Given the description of an element on the screen output the (x, y) to click on. 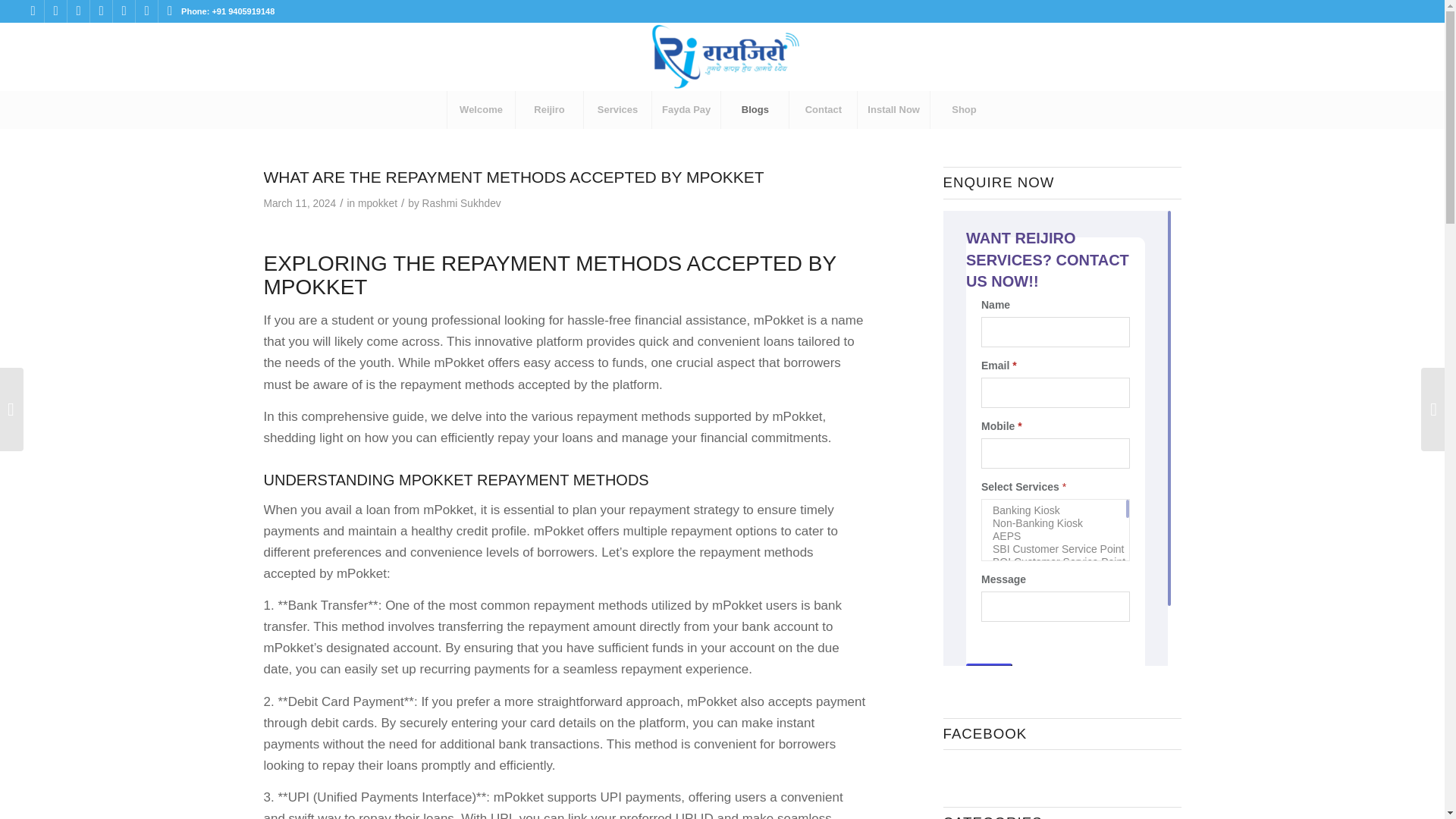
Youtube (124, 11)
Instagram (55, 11)
Services (616, 109)
WhatsApp (169, 11)
Facebook (32, 11)
Pinterest (146, 11)
Rashmi Sukhdev (461, 203)
Twitter (77, 11)
Posts by Rashmi Sukhdev (461, 203)
mpokket (377, 203)
